Given the description of an element on the screen output the (x, y) to click on. 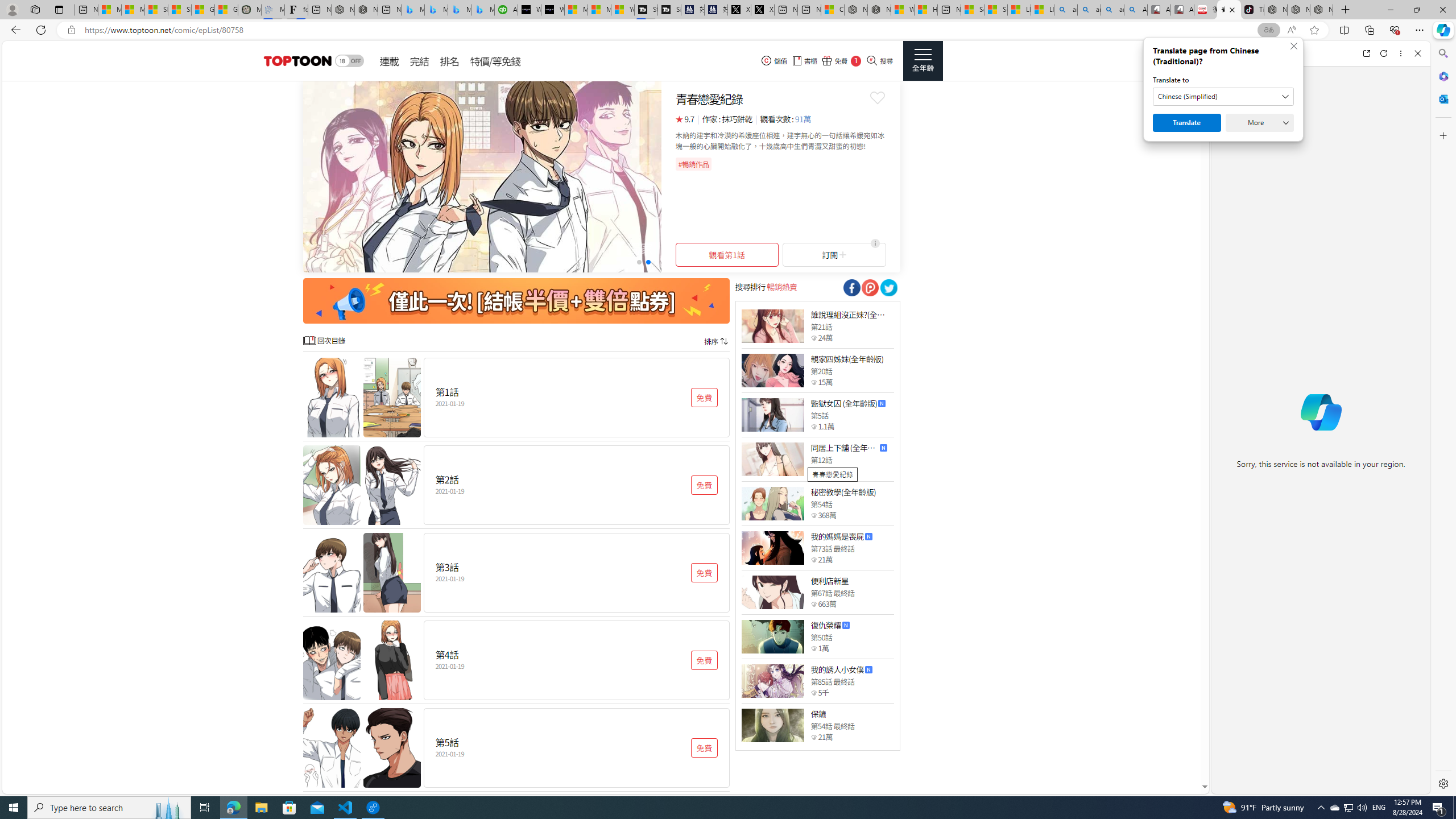
Accounting Software for Accountants, CPAs and Bookkeepers (505, 9)
header (295, 60)
Gilma and Hector both pose tropical trouble for Hawaii (226, 9)
Class: socialShare (887, 287)
